Given the description of an element on the screen output the (x, y) to click on. 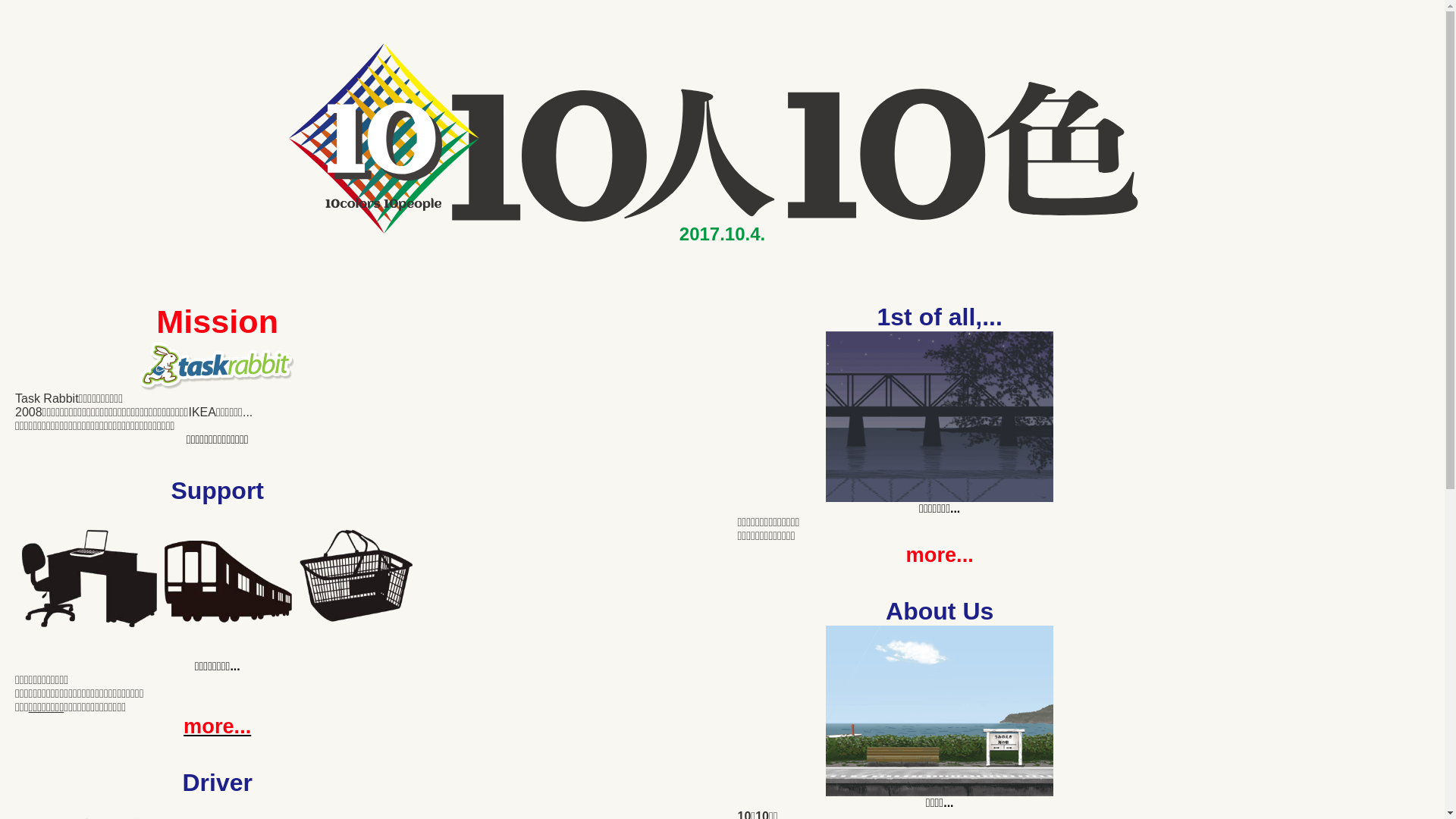
more... Element type: text (217, 726)
